Given the description of an element on the screen output the (x, y) to click on. 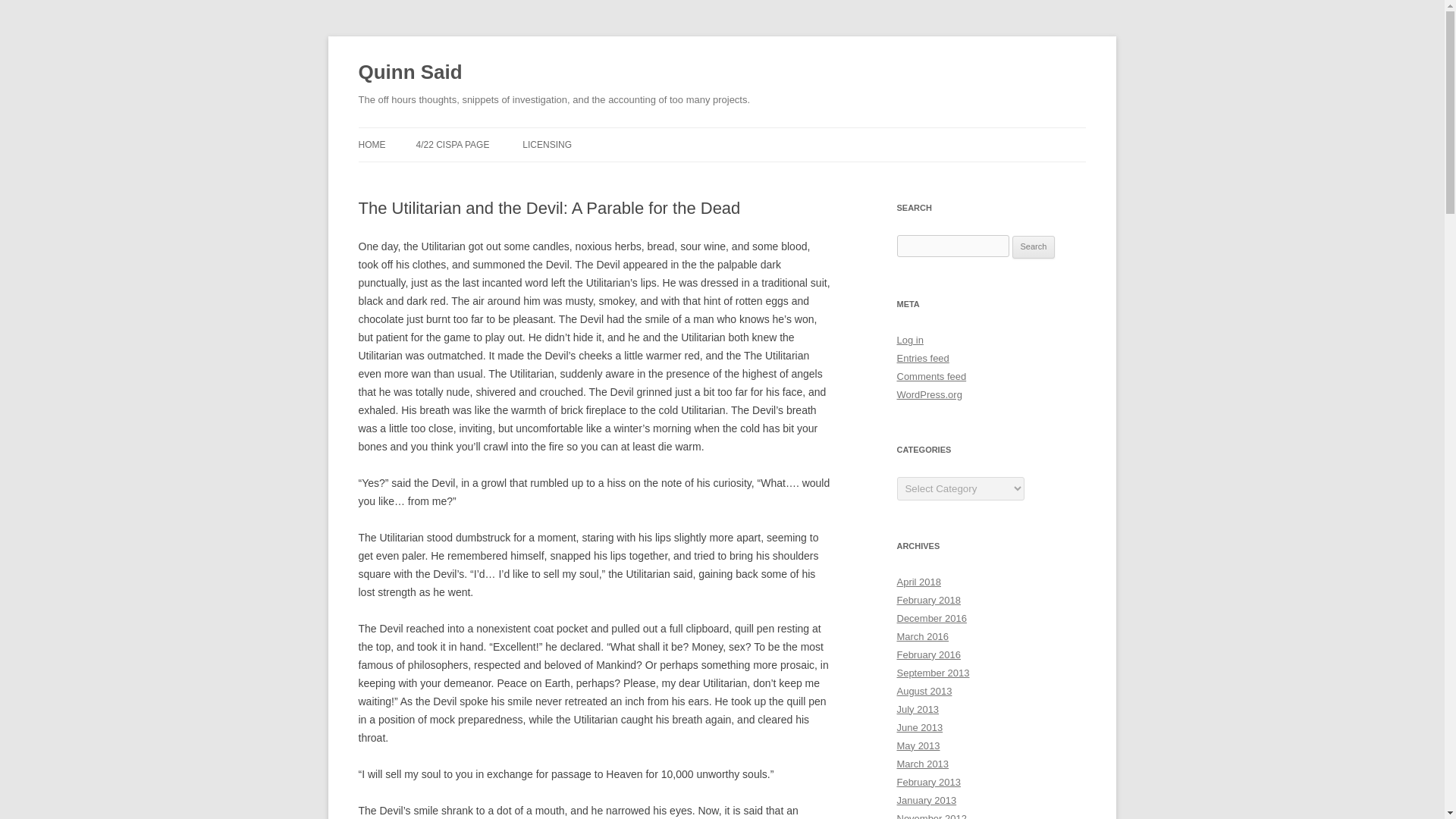
Quinn Said (409, 72)
February 2013 (927, 781)
March 2016 (922, 636)
Search (1033, 246)
March 2013 (922, 763)
May 2013 (917, 745)
June 2013 (919, 727)
August 2013 (924, 690)
Search (1033, 246)
December 2016 (931, 618)
Comments feed (931, 376)
Log in (909, 339)
April 2018 (918, 582)
November 2012 (931, 816)
